Given the description of an element on the screen output the (x, y) to click on. 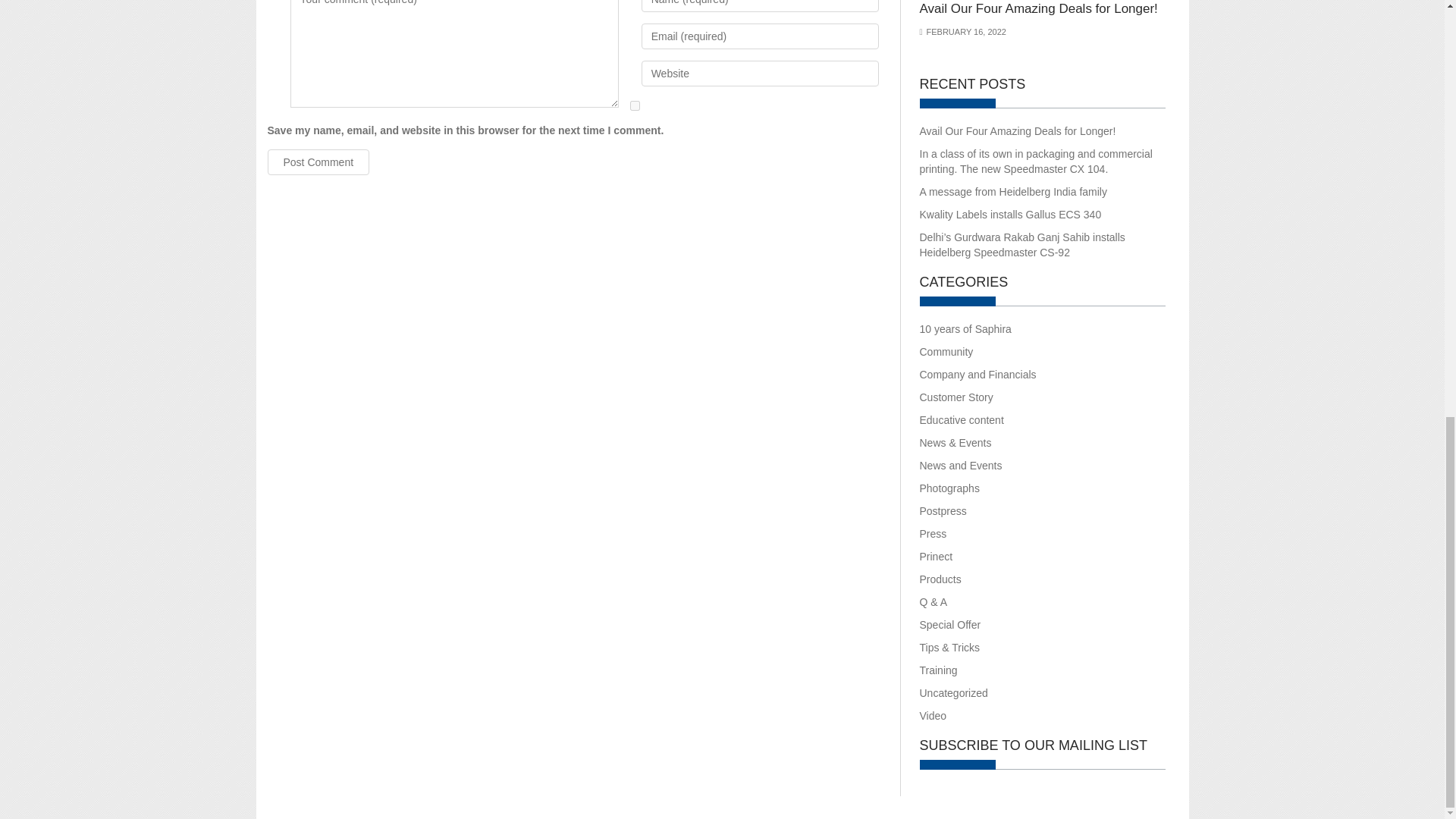
yes (635, 105)
Post Comment (317, 162)
